Given the description of an element on the screen output the (x, y) to click on. 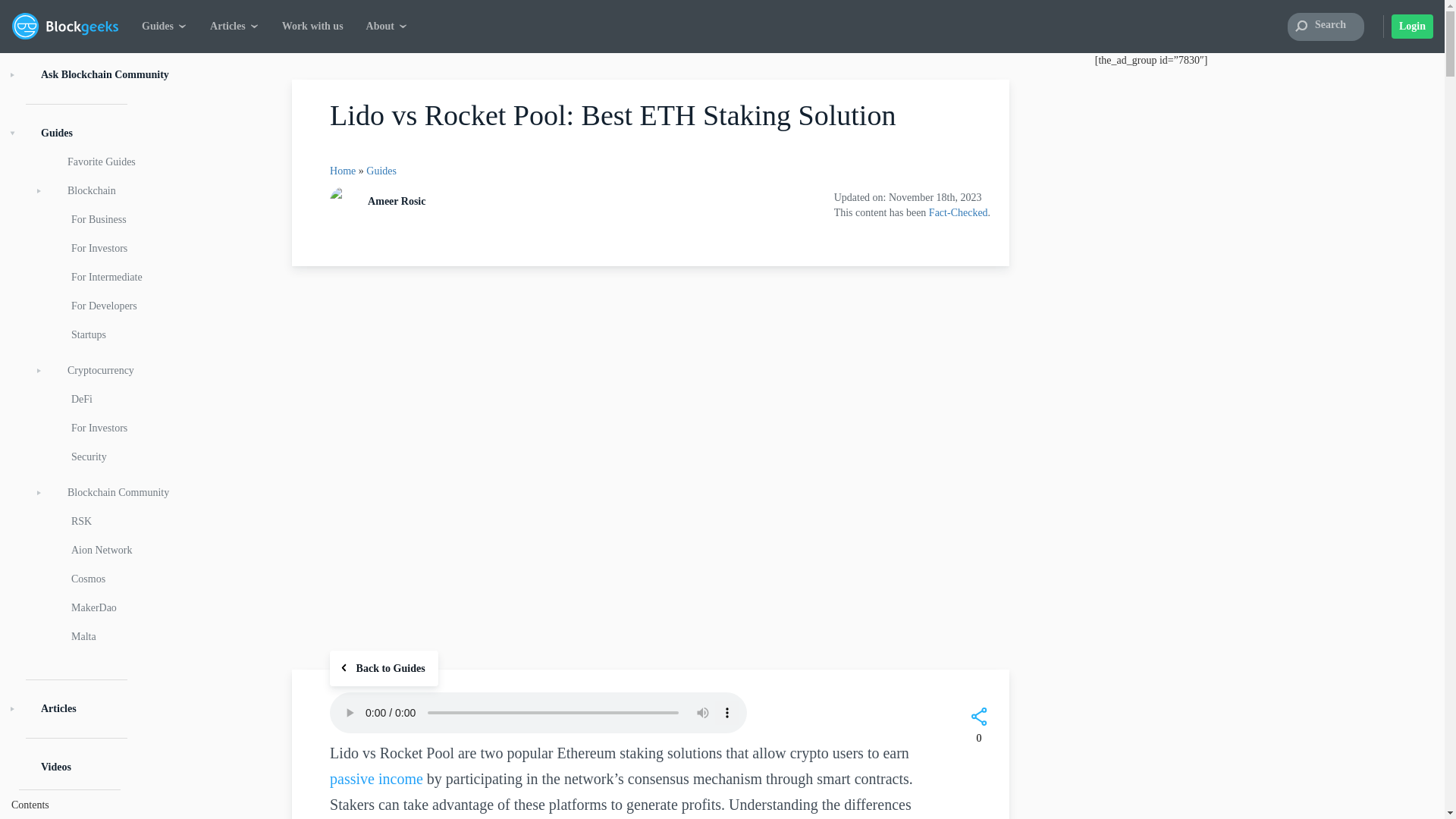
Lido vs Rocket Pool: Best ETH Staking Solution (650, 466)
About (2, 191)
Work with us (2, 158)
Guides (2, 91)
Articles (2, 124)
Go back to guides (384, 668)
